Given the description of an element on the screen output the (x, y) to click on. 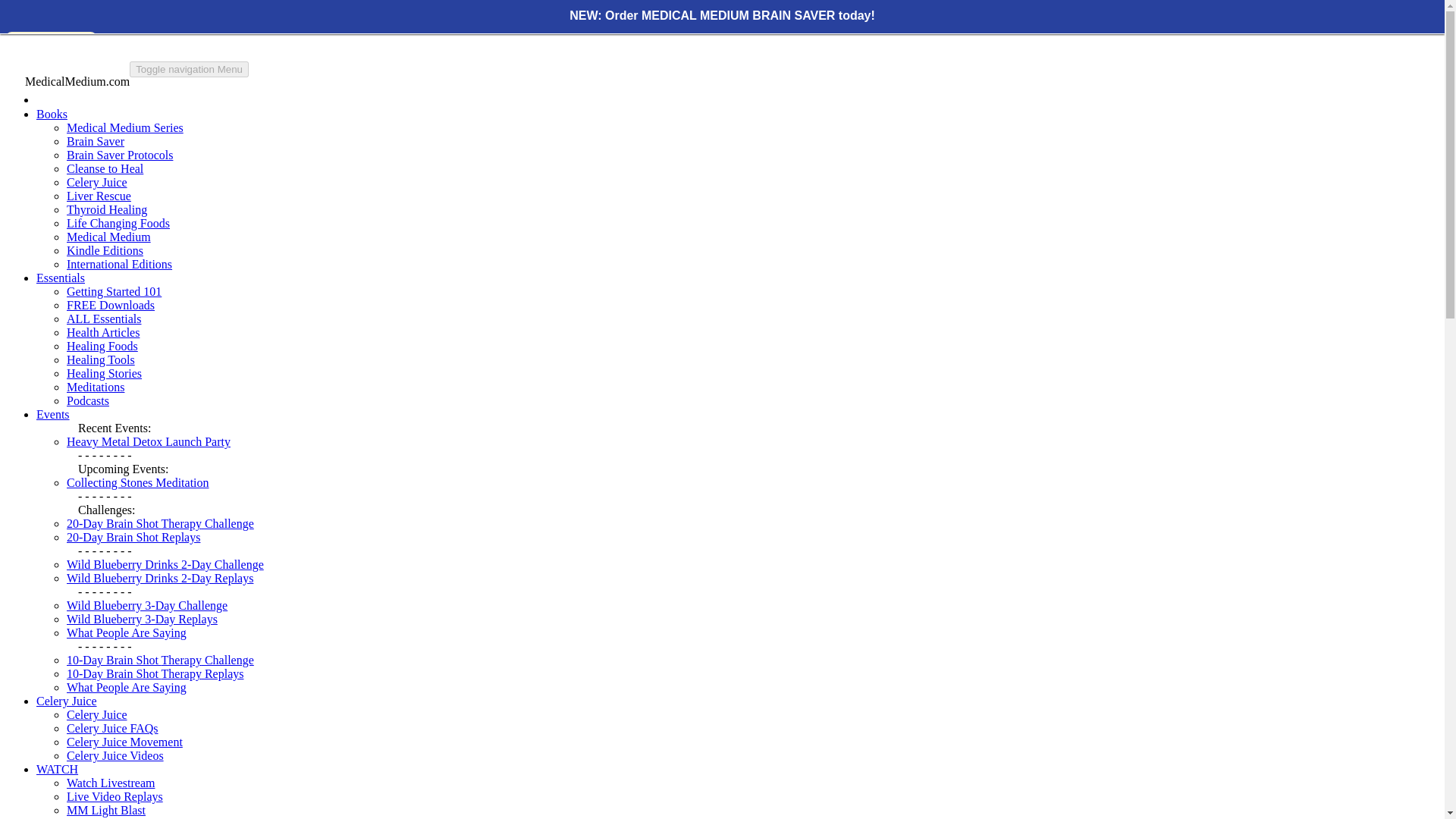
ORDER NOW (51, 38)
10-Day Brain Shot Therapy Challenge (159, 659)
Kindle Editions (104, 250)
Celery Juice (97, 714)
Wild Blueberry Drinks 2-Day Replays (159, 577)
Toggle navigation Menu (188, 68)
Celery Juice (66, 700)
What People Are Saying (126, 686)
Brain Saver (94, 141)
International Editions (118, 264)
Cleanse to Heal (104, 168)
Wild Blueberry Drinks 2-Day Challenge (164, 563)
Thyroid Healing (106, 209)
10-Day Brain Shot Therapy Replays (154, 673)
Health Articles (102, 332)
